Given the description of an element on the screen output the (x, y) to click on. 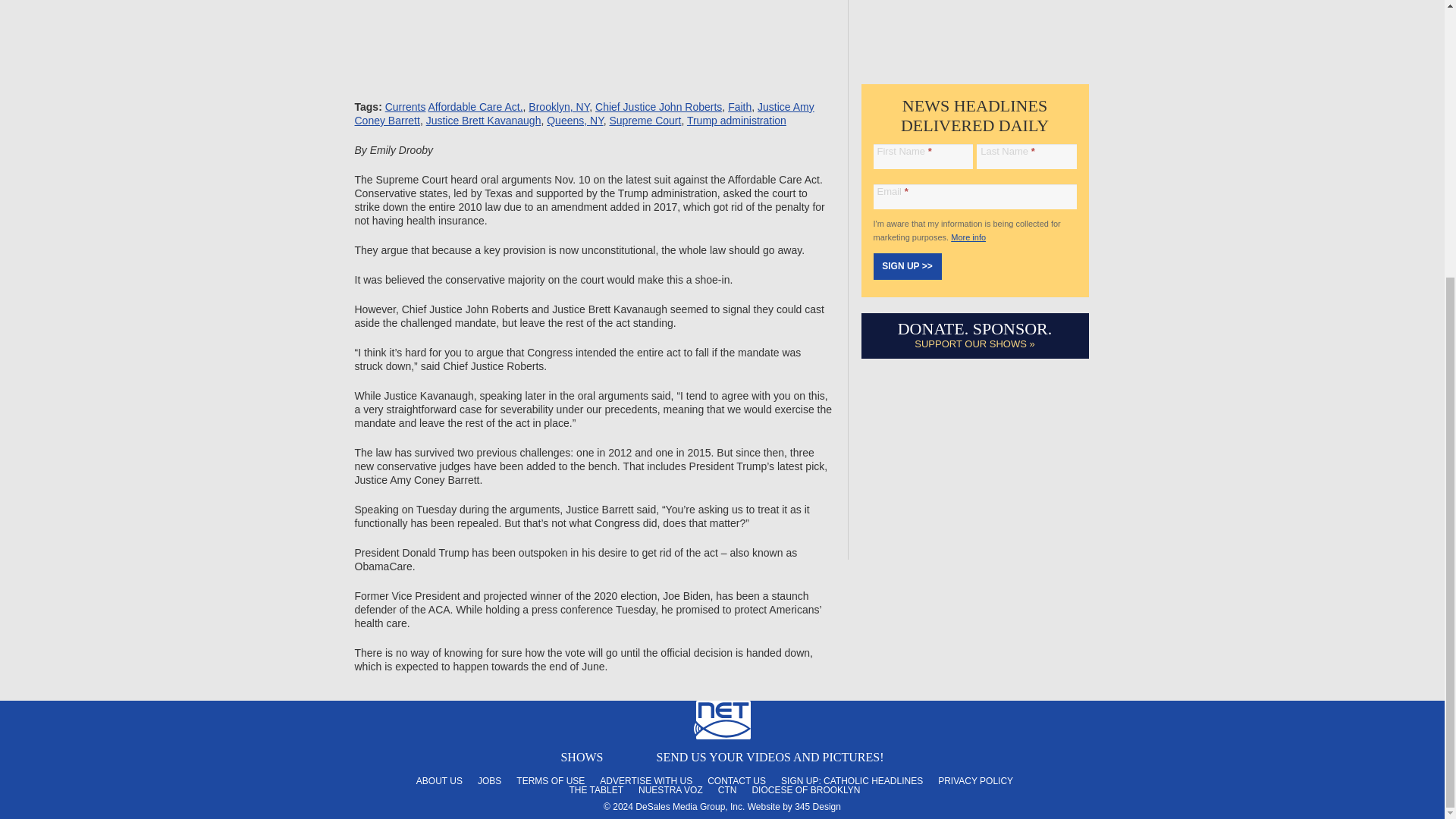
Brooklyn, NY (558, 106)
Trump administration (736, 120)
DONATE. SPONSOR. (975, 328)
Chief Justice John Roberts (658, 106)
Queens, NY (574, 120)
SHOWS (581, 757)
More info (967, 236)
Faith (739, 106)
Justice Amy Coney Barrett (584, 113)
Currents (405, 106)
Justice Brett Kavanaugh (483, 120)
Affordable Care Act. (475, 106)
Supreme Court (644, 120)
